Given the description of an element on the screen output the (x, y) to click on. 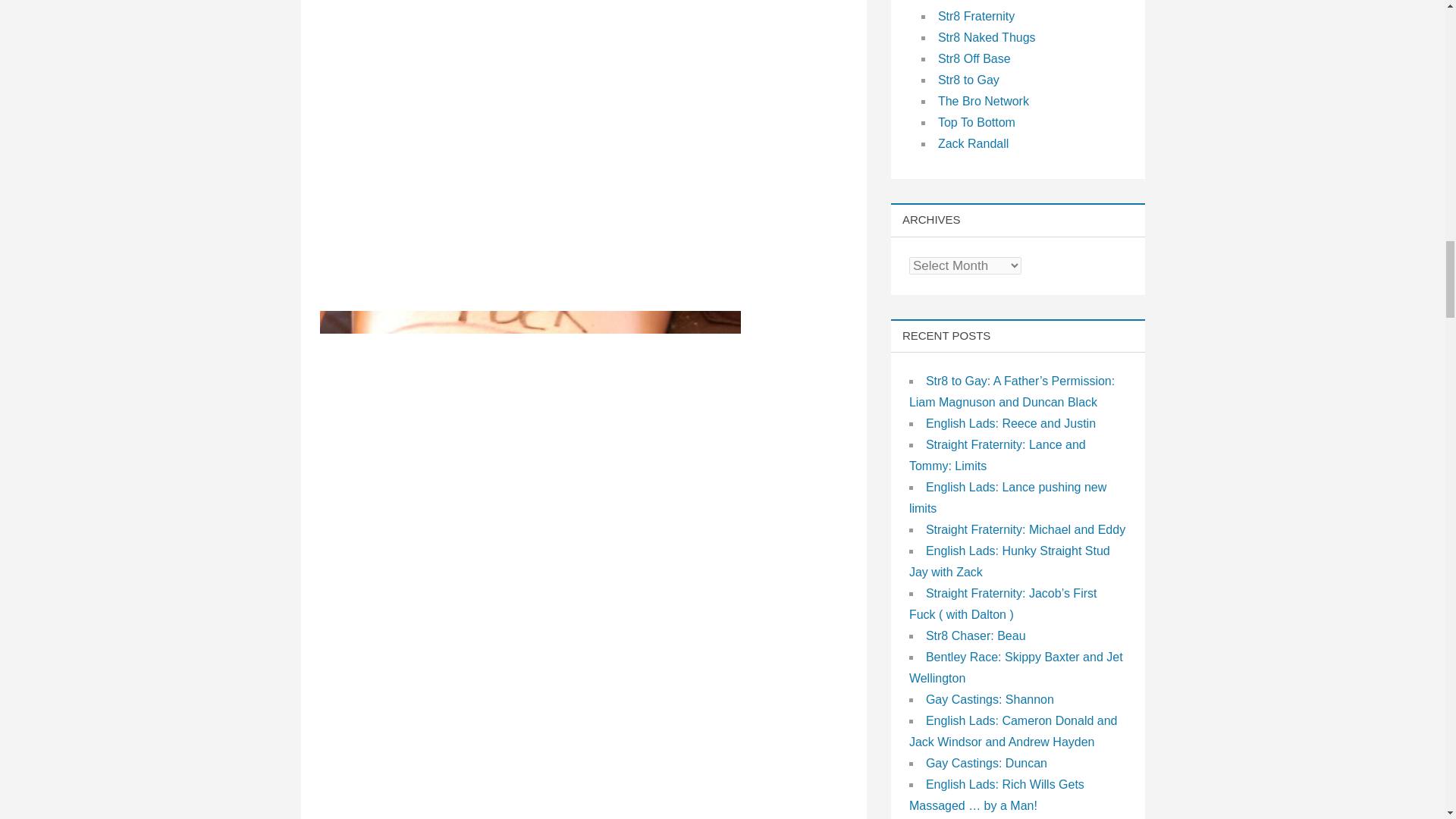
FraternityX: Party Foul (530, 141)
